Given the description of an element on the screen output the (x, y) to click on. 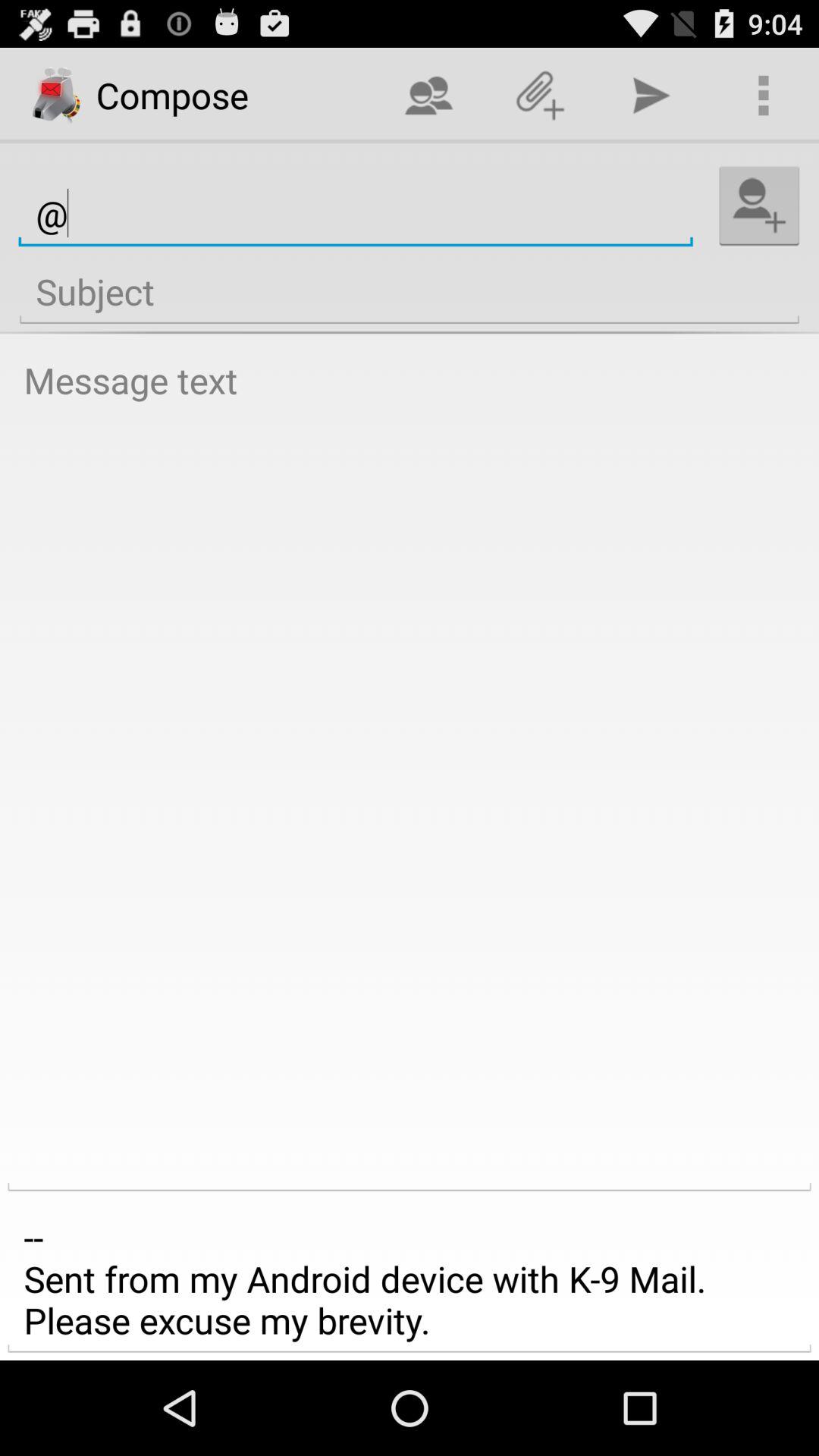
scroll to the @ icon (355, 213)
